Given the description of an element on the screen output the (x, y) to click on. 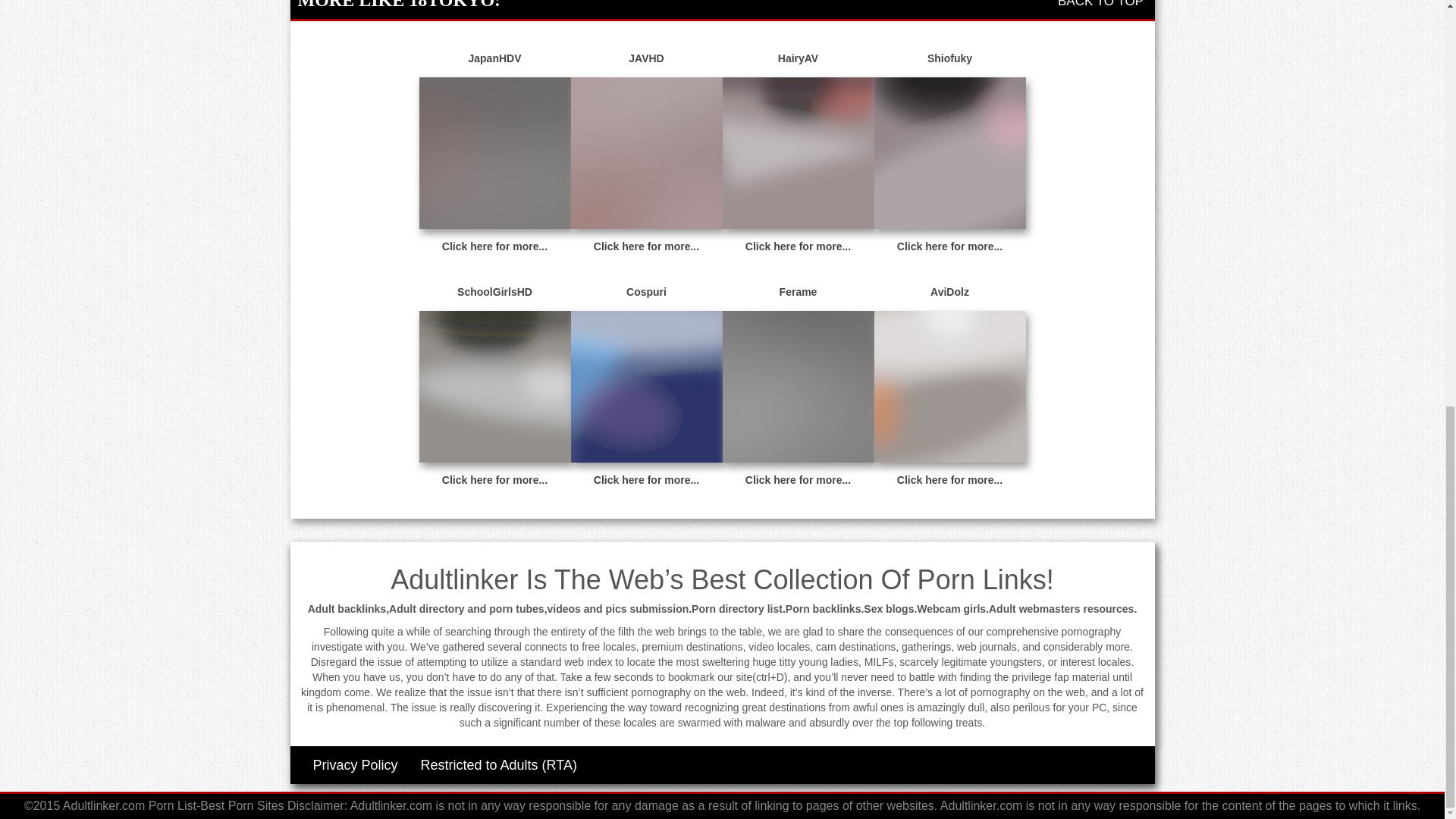
Click here for more... (646, 480)
Click here for more... (494, 246)
Shiofuky (949, 58)
AviDolz (949, 292)
Click here for more... (797, 480)
Click here for more... (494, 480)
HairyAV (797, 58)
Ferame (797, 292)
JapanHDV (494, 58)
Cospuri (646, 292)
